Given the description of an element on the screen output the (x, y) to click on. 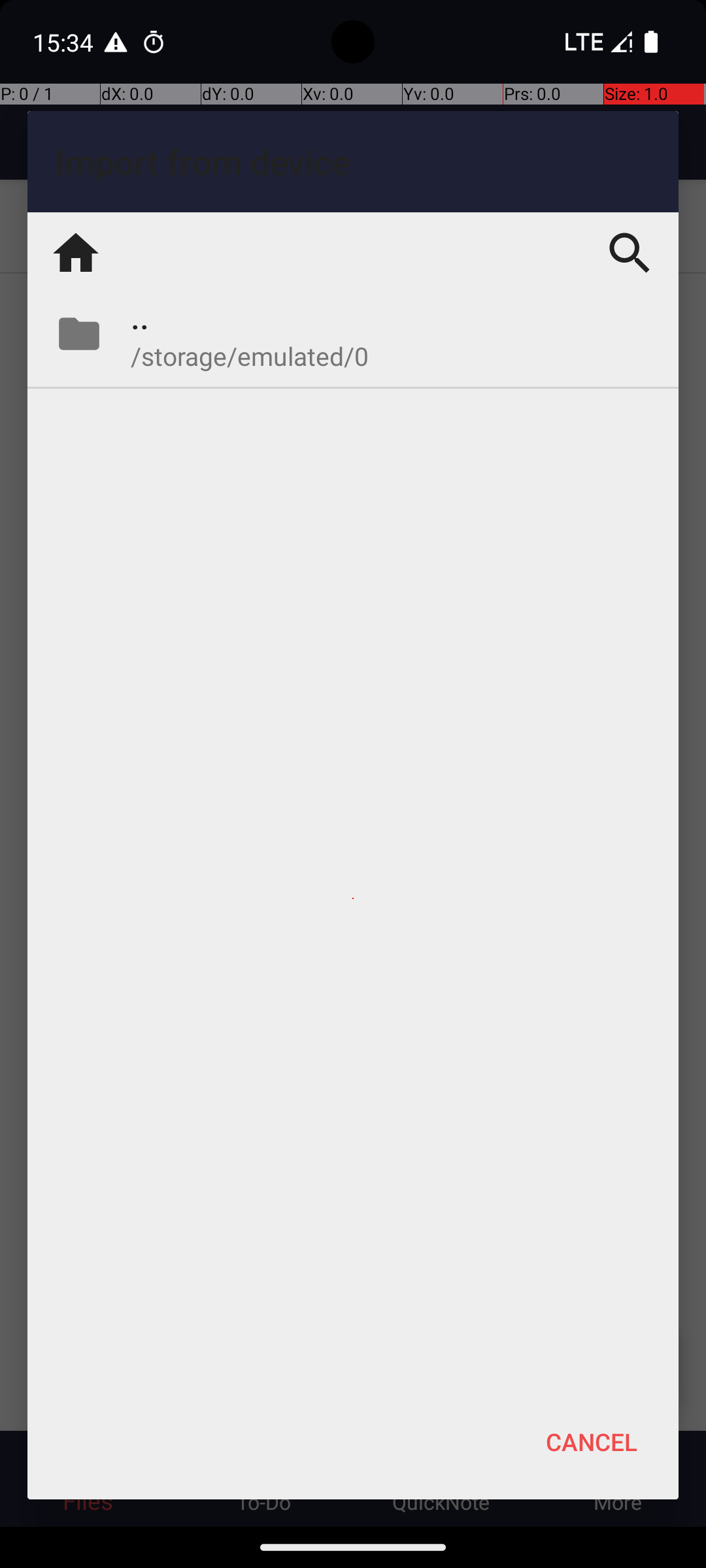
Import from device Element type: android.widget.TextView (352, 161)
